Given the description of an element on the screen output the (x, y) to click on. 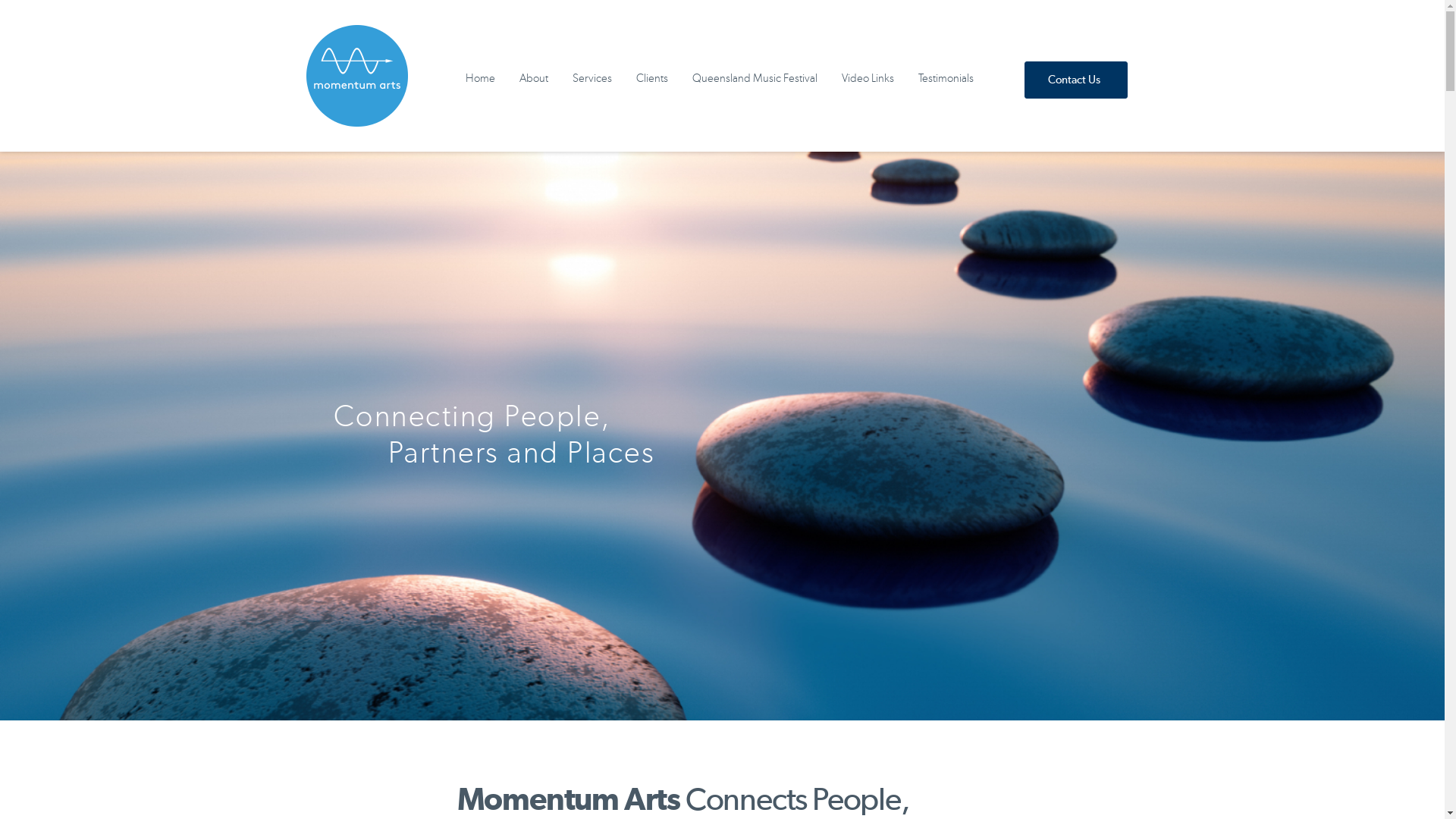
About Element type: text (533, 78)
Services Element type: text (592, 78)
Contact Us Element type: text (1075, 79)
Video Links Element type: text (867, 78)
Testimonials Element type: text (945, 78)
Clients Element type: text (652, 78)
Queensland Music Festival Element type: text (754, 78)
Home Element type: text (480, 78)
